Given the description of an element on the screen output the (x, y) to click on. 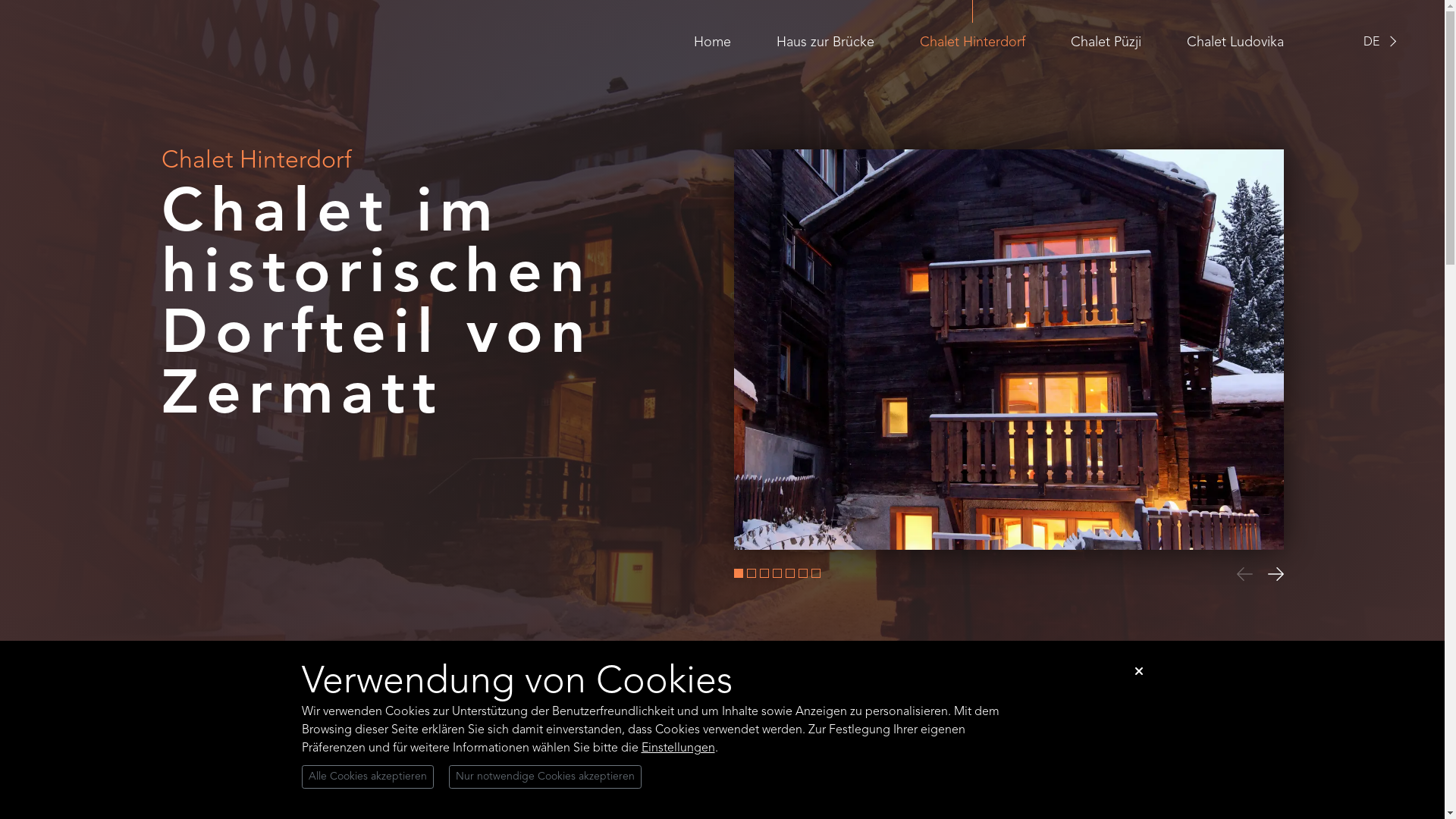
Einstellungen Element type: text (678, 748)
DE Element type: text (1371, 42)
Chalet Ludovika Element type: text (1234, 42)
Chalet Hinterdorf Element type: text (971, 42)
Alle Cookies akzeptieren Element type: text (367, 776)
Nur notwendige Cookies akzeptieren Element type: text (544, 776)
Home Element type: text (711, 42)
Suchen Element type: text (928, 670)
